Given the description of an element on the screen output the (x, y) to click on. 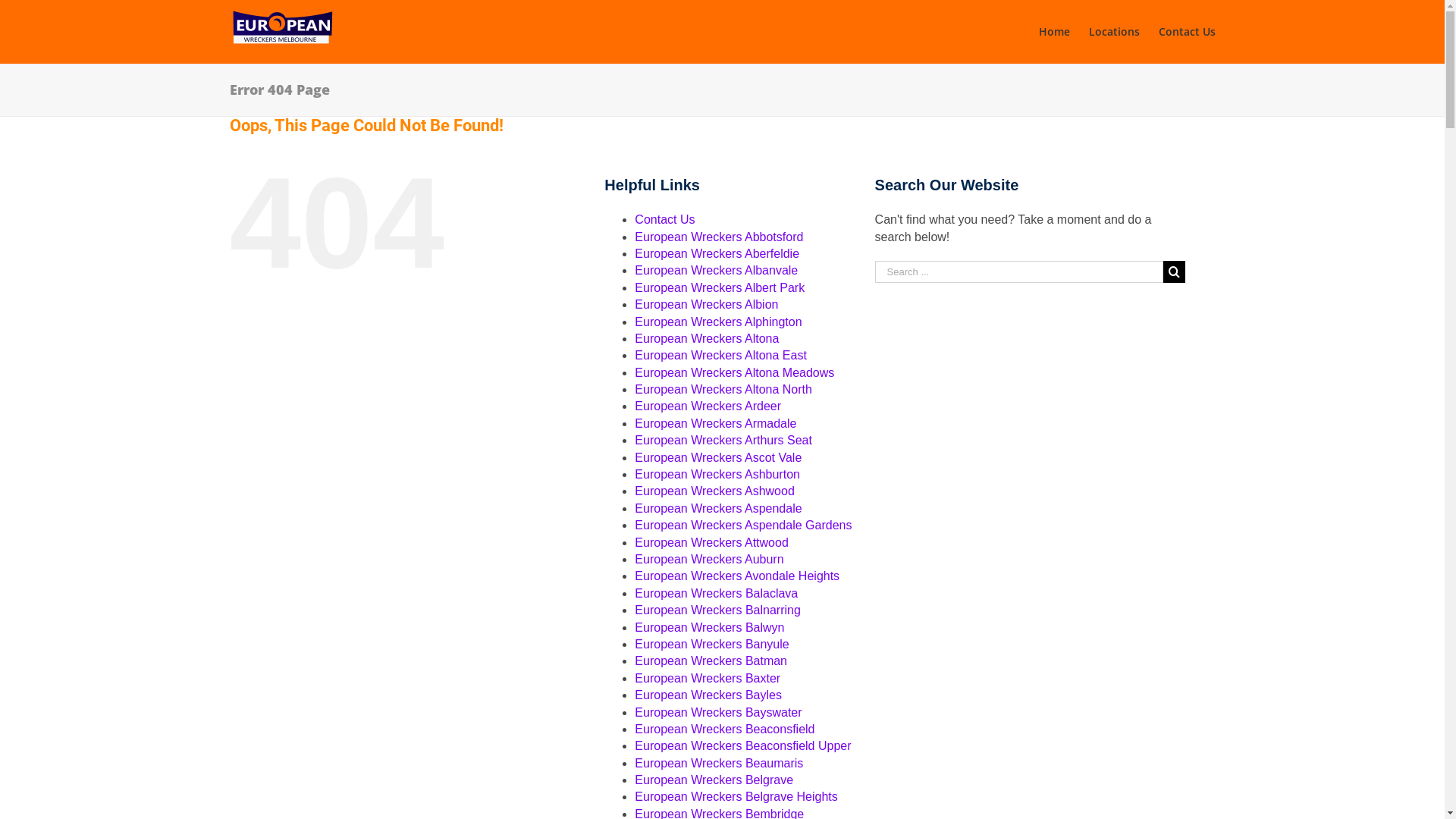
Contact Us Element type: text (664, 219)
European Wreckers Ascot Vale Element type: text (717, 457)
European Wreckers Albanvale Element type: text (715, 269)
European Wreckers Abbotsford Element type: text (718, 236)
European Wreckers Aspendale Gardens Element type: text (742, 524)
Home Element type: text (1054, 31)
European Wreckers Balnarring Element type: text (717, 609)
European Wreckers Ashburton Element type: text (717, 473)
European Wreckers Balwyn Element type: text (709, 627)
European Wreckers Banyule Element type: text (711, 643)
European Wreckers Beaumaris Element type: text (718, 762)
European Wreckers Altona Element type: text (706, 338)
European Wreckers Batman Element type: text (710, 660)
European Wreckers Belgrave Heights Element type: text (735, 796)
European Wreckers Aberfeldie Element type: text (716, 253)
European Wreckers Altona East Element type: text (720, 354)
Contact Us Element type: text (1186, 31)
European Wreckers Albion Element type: text (706, 304)
European Wreckers Aspendale Element type: text (717, 508)
European Wreckers Altona Meadows Element type: text (734, 372)
European Wreckers Bayswater Element type: text (717, 712)
European Wreckers Auburn Element type: text (708, 558)
European Wreckers Baxter Element type: text (707, 677)
European Wreckers Beaconsfield Upper Element type: text (742, 745)
European Wreckers Belgrave Element type: text (713, 779)
European Wreckers Armadale Element type: text (715, 423)
European Wreckers Altona North Element type: text (723, 388)
European Wreckers Attwood Element type: text (710, 542)
European Wreckers Ardeer Element type: text (707, 405)
European Wreckers Bayles Element type: text (707, 694)
Locations Element type: text (1113, 31)
European Wreckers Beaconsfield Element type: text (724, 728)
European Wreckers Arthurs Seat Element type: text (723, 439)
European Wreckers Balaclava Element type: text (715, 592)
European Wreckers Alphington Element type: text (717, 321)
European Wreckers Albert Park Element type: text (719, 287)
European Wreckers Ashwood Element type: text (713, 490)
European Wreckers Avondale Heights Element type: text (736, 575)
